Given the description of an element on the screen output the (x, y) to click on. 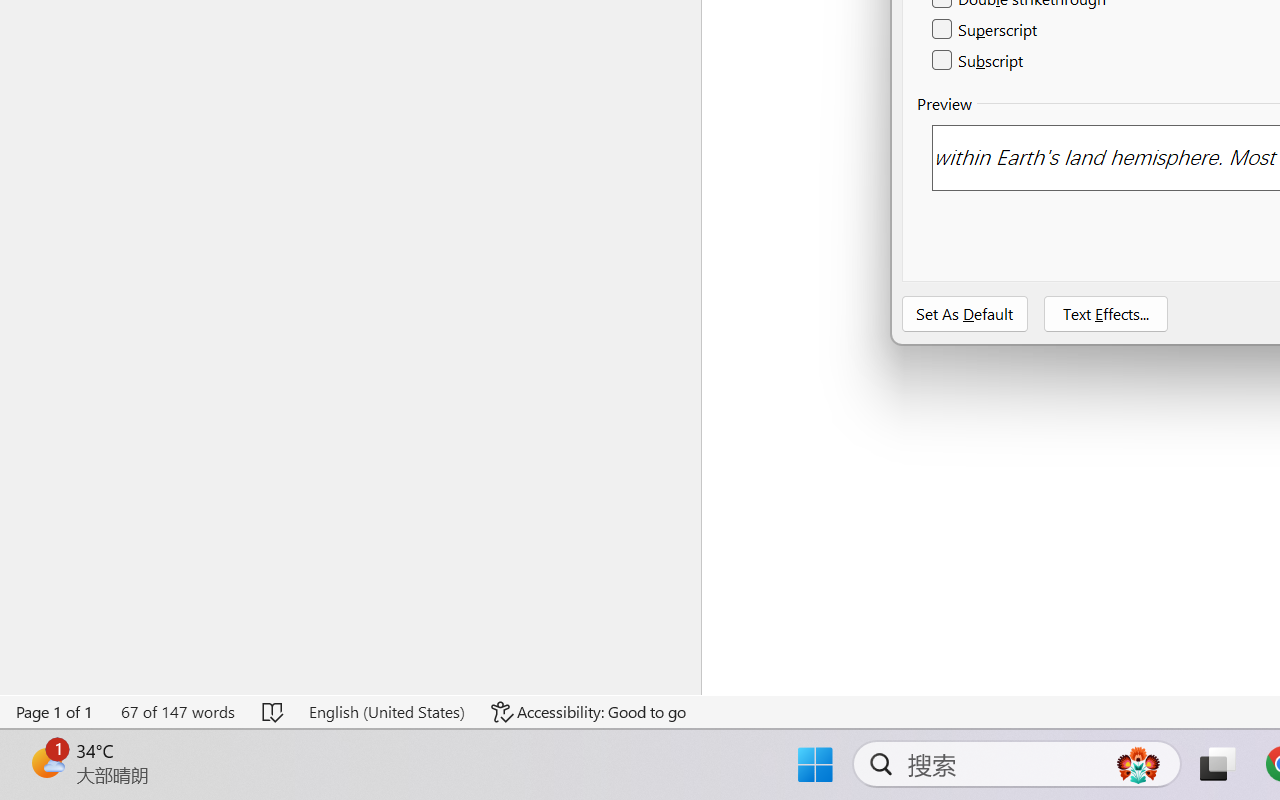
Text Effects... (1105, 313)
Subscript (978, 60)
Set As Default (965, 313)
Superscript (985, 29)
Page Number Page 1 of 1 (55, 712)
